Given the description of an element on the screen output the (x, y) to click on. 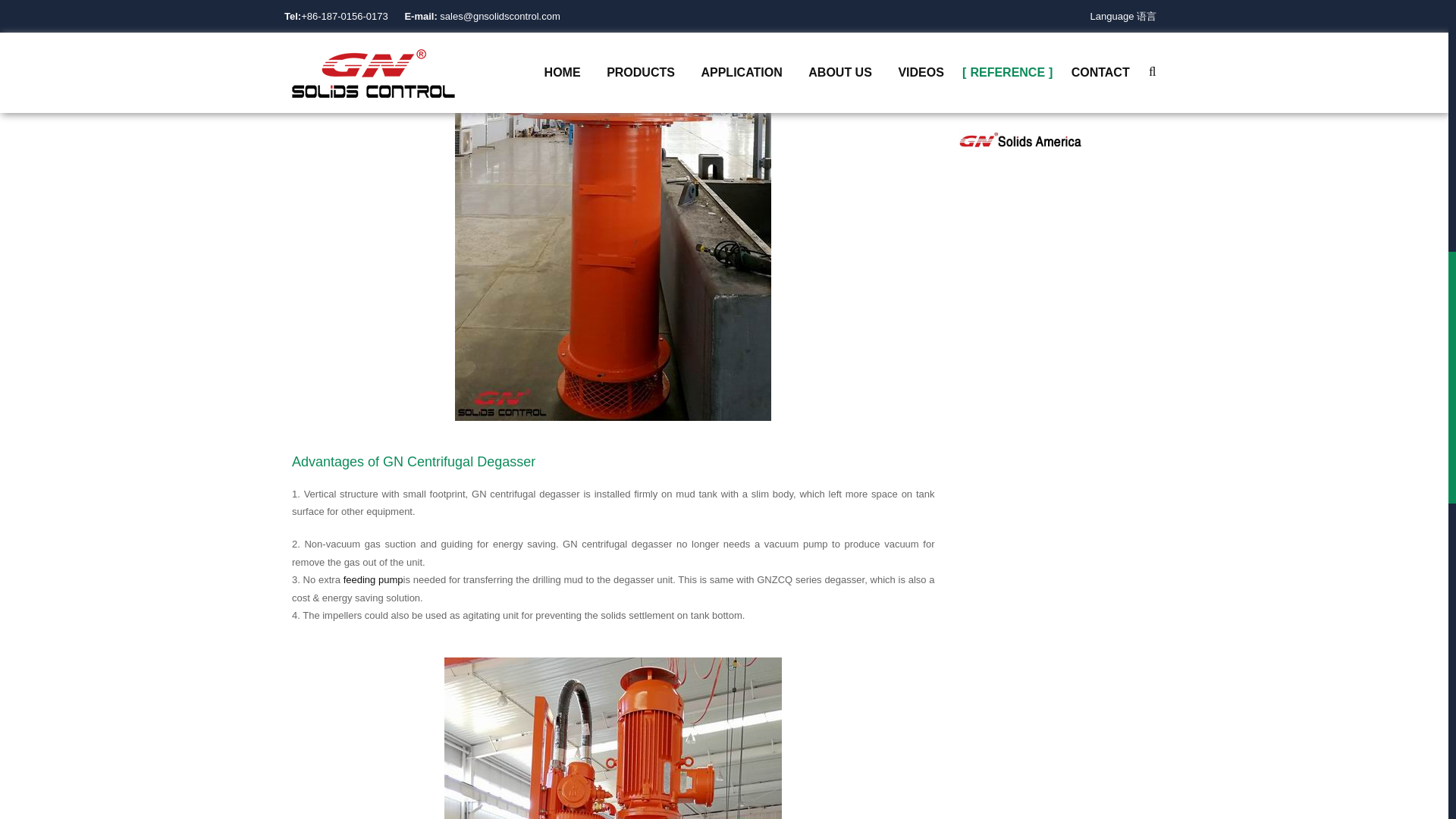
GN Solids Conrol America LOGO (1019, 139)
centrifugal pump (373, 579)
GN Solids America (1019, 138)
